Given the description of an element on the screen output the (x, y) to click on. 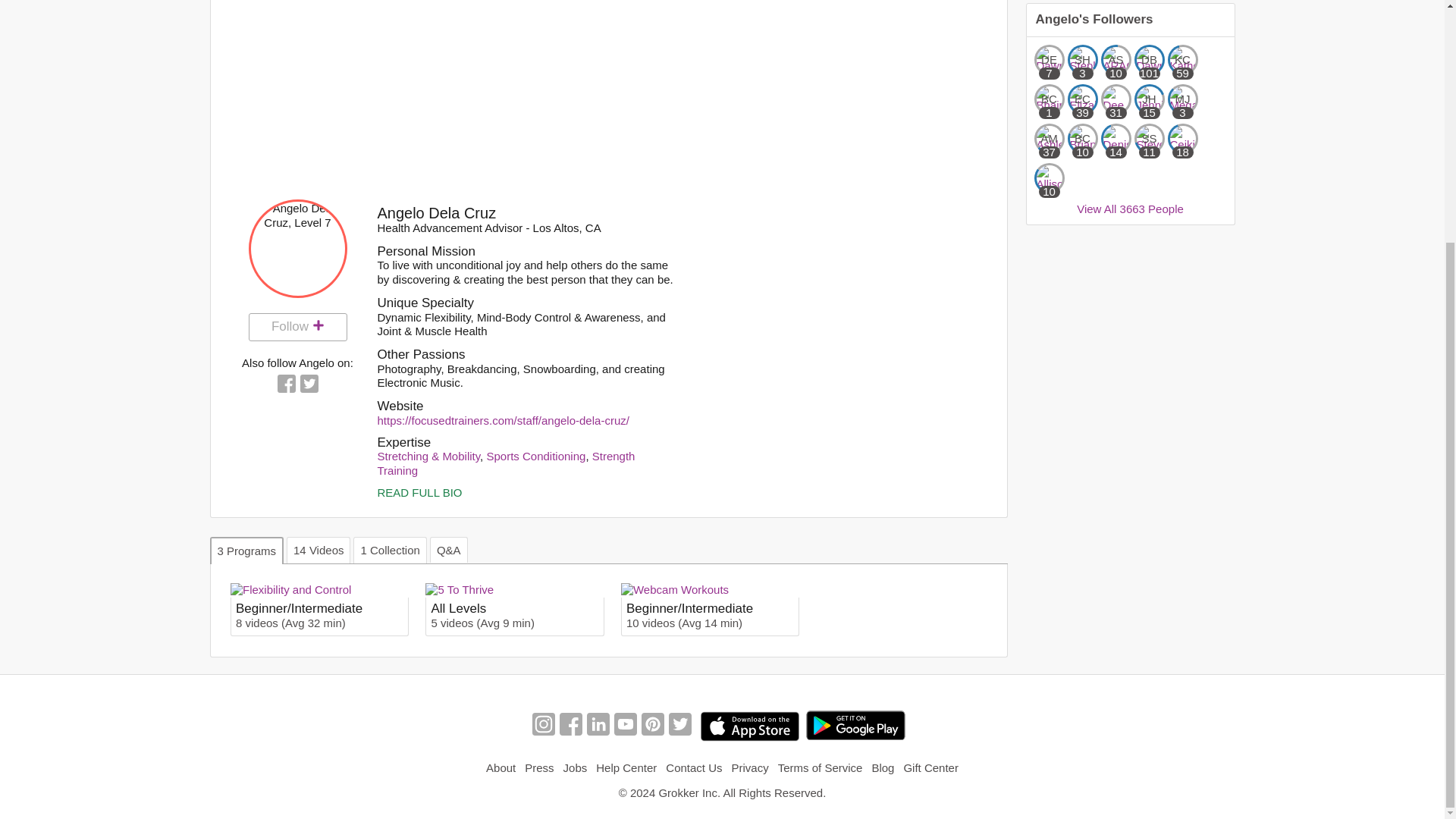
Megan Jackson (1182, 99)
Elizabeth Cerda (1082, 99)
Jennifer Howard (1149, 99)
Bhairavi Chavan (1048, 99)
Dee Horowitz (1115, 99)
Angelo Dela Cruz (297, 248)
Dawn Bertone (1149, 60)
Ashley Montilla (1048, 138)
Dawn Emmrich (1048, 60)
Katherine Coolidge (1182, 60)
